Given the description of an element on the screen output the (x, y) to click on. 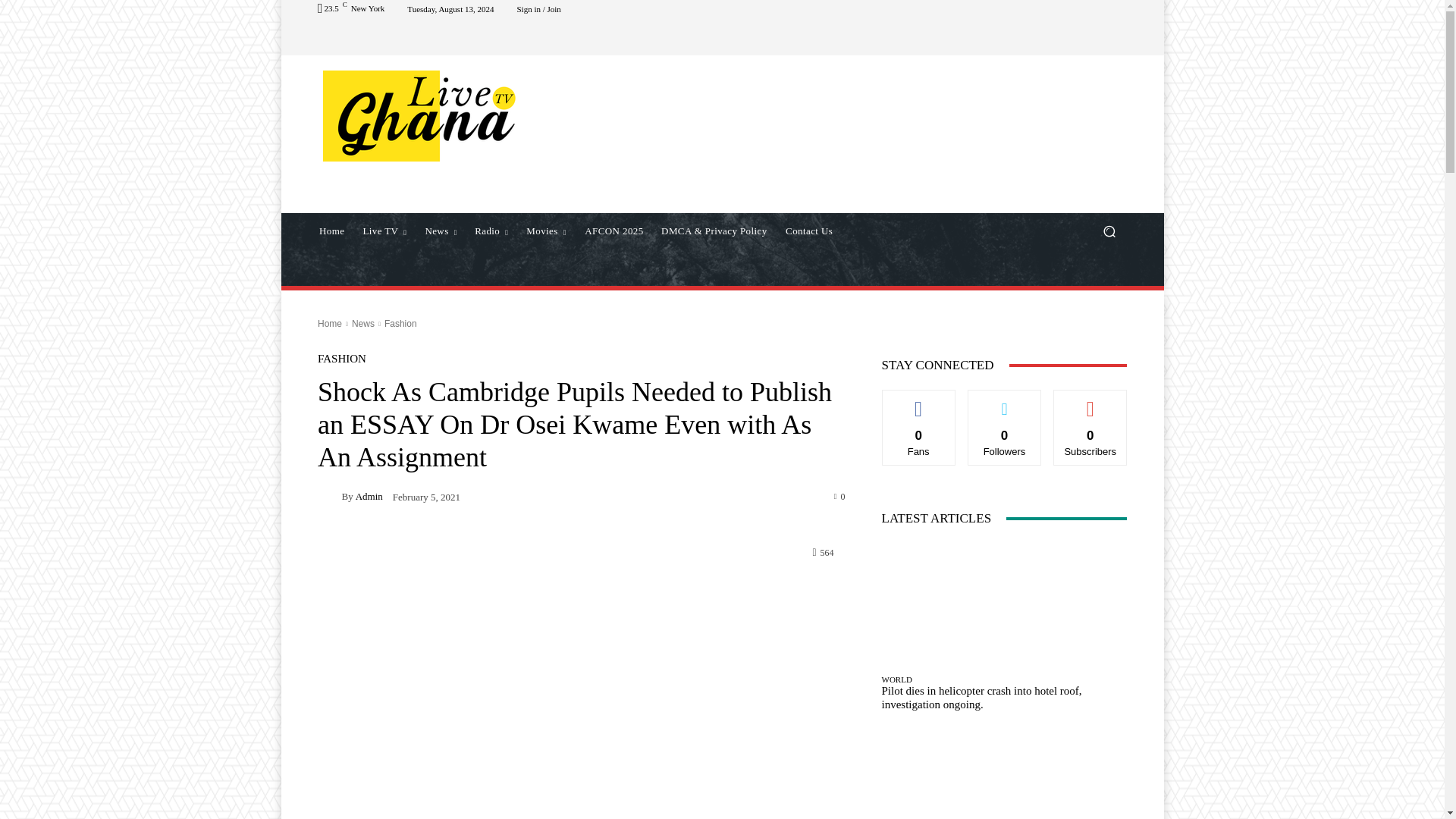
admin (328, 496)
View all posts in News (362, 323)
View all posts in Fashion (400, 323)
